Given the description of an element on the screen output the (x, y) to click on. 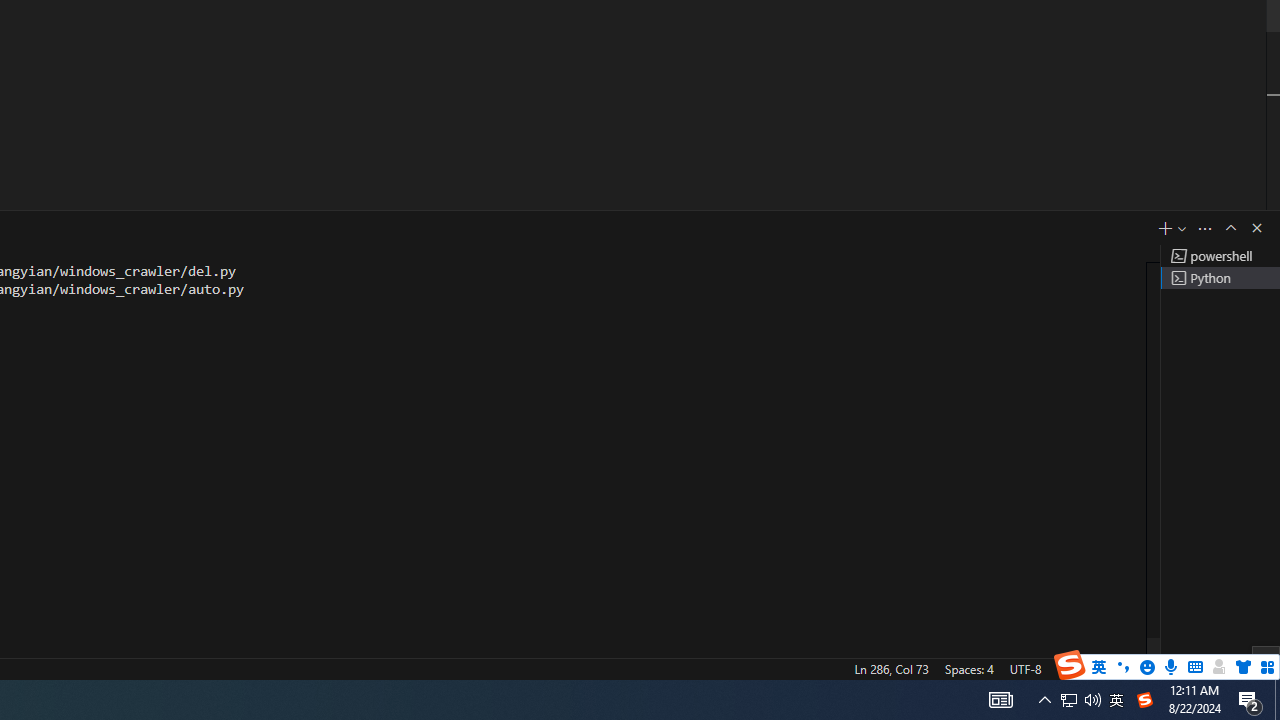
Ln 286, Col 73 (891, 668)
Terminal 5 Python (1220, 277)
Launch Profile... (1181, 227)
Hide Panel (1256, 227)
CRLF (1070, 668)
Maximize Panel Size (1230, 227)
UTF-8 (1025, 668)
Python (1135, 668)
Views and More Actions... (1205, 227)
Terminal 1 powershell (1220, 255)
